Given the description of an element on the screen output the (x, y) to click on. 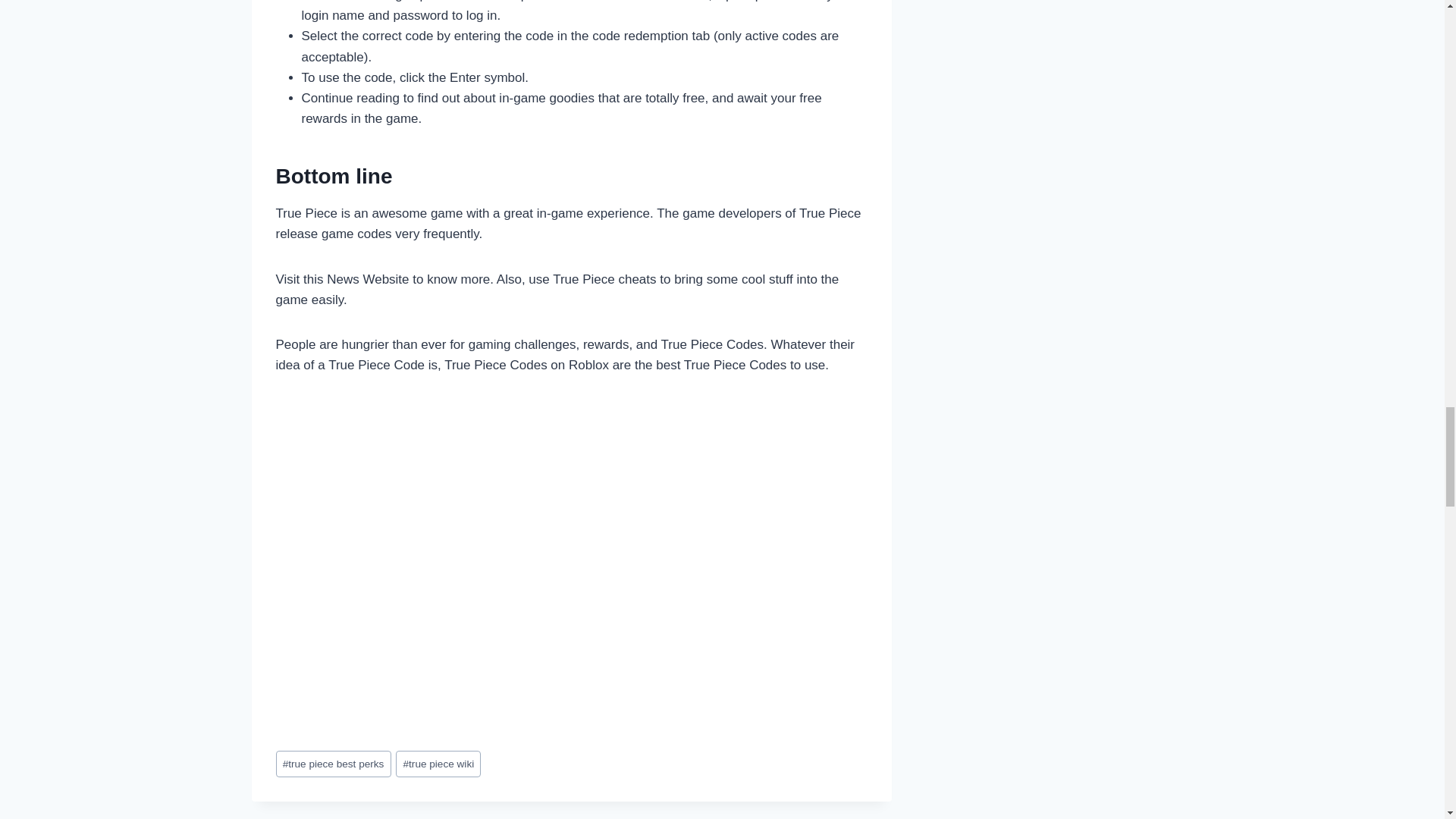
true piece wiki (438, 764)
true piece best perks (333, 764)
